Given the description of an element on the screen output the (x, y) to click on. 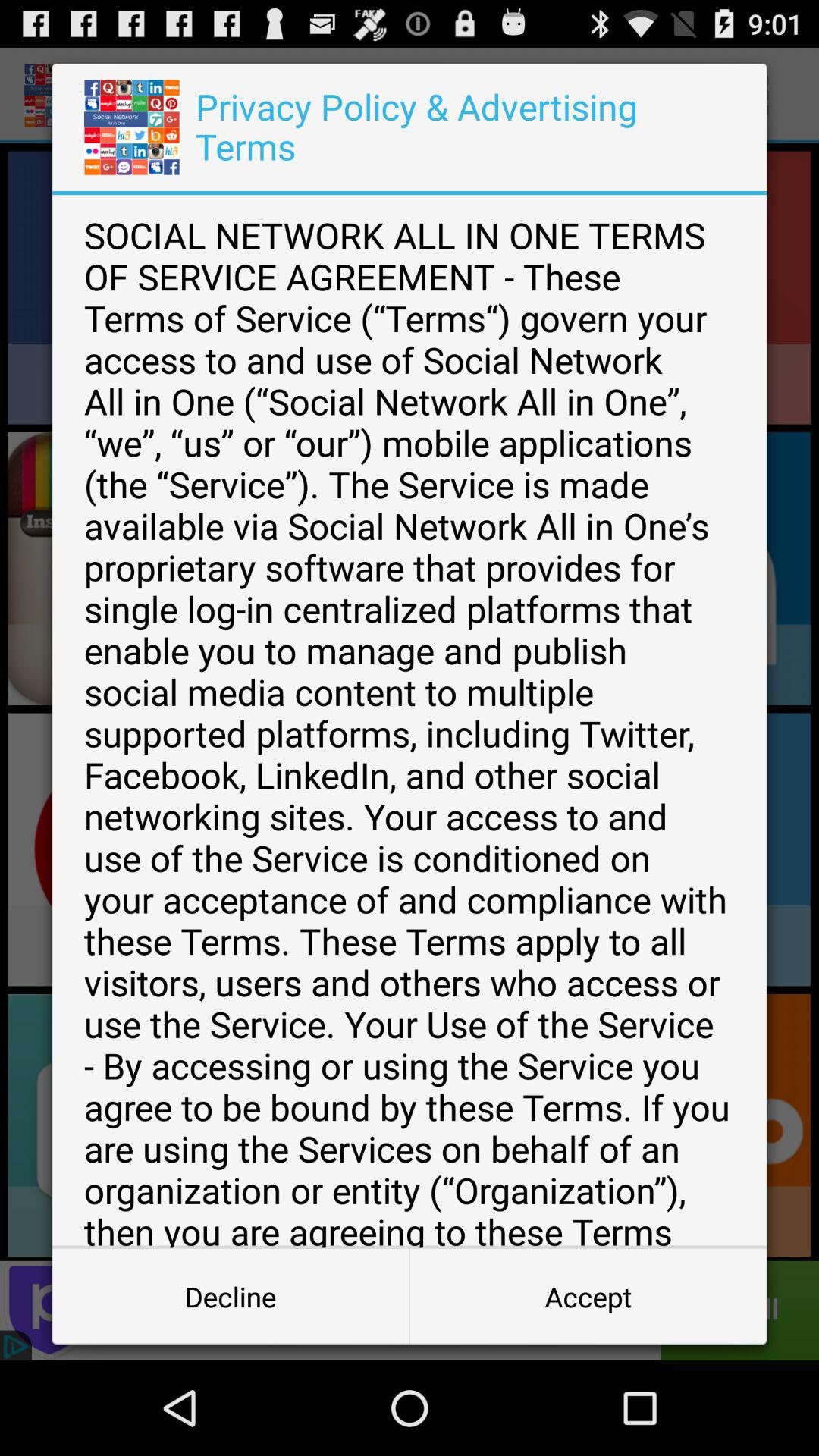
open the app below the social network all icon (230, 1296)
